Given the description of an element on the screen output the (x, y) to click on. 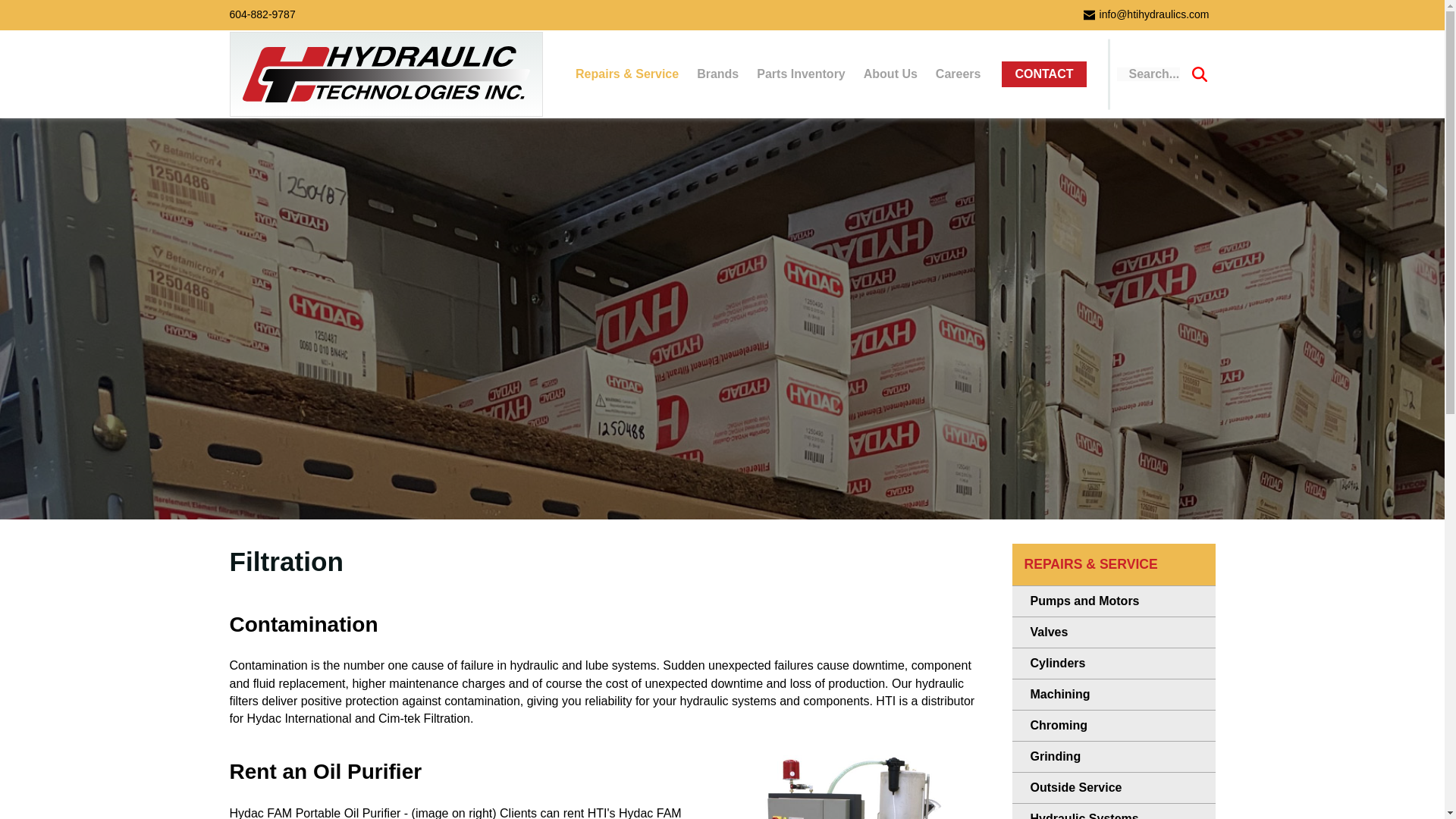
Chroming (1112, 725)
604-882-9787 (261, 14)
Careers (958, 73)
Brands (717, 73)
Machining (1112, 694)
HTI Hydraulics - Home (387, 74)
Parts Inventory (800, 73)
Valves (1112, 632)
Hydraulic Systems (1112, 811)
Grinding (1112, 757)
